Given the description of an element on the screen output the (x, y) to click on. 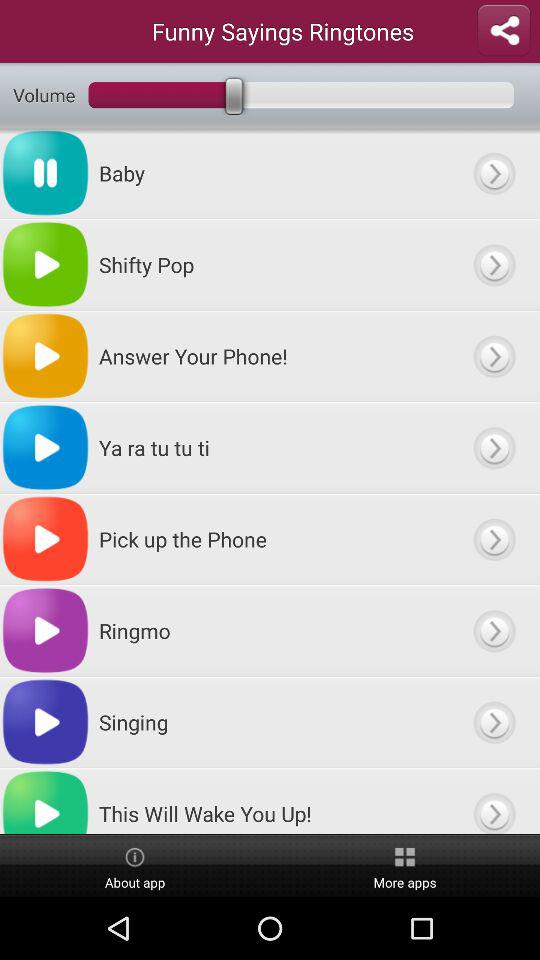
ringmo link (494, 630)
